Given the description of an element on the screen output the (x, y) to click on. 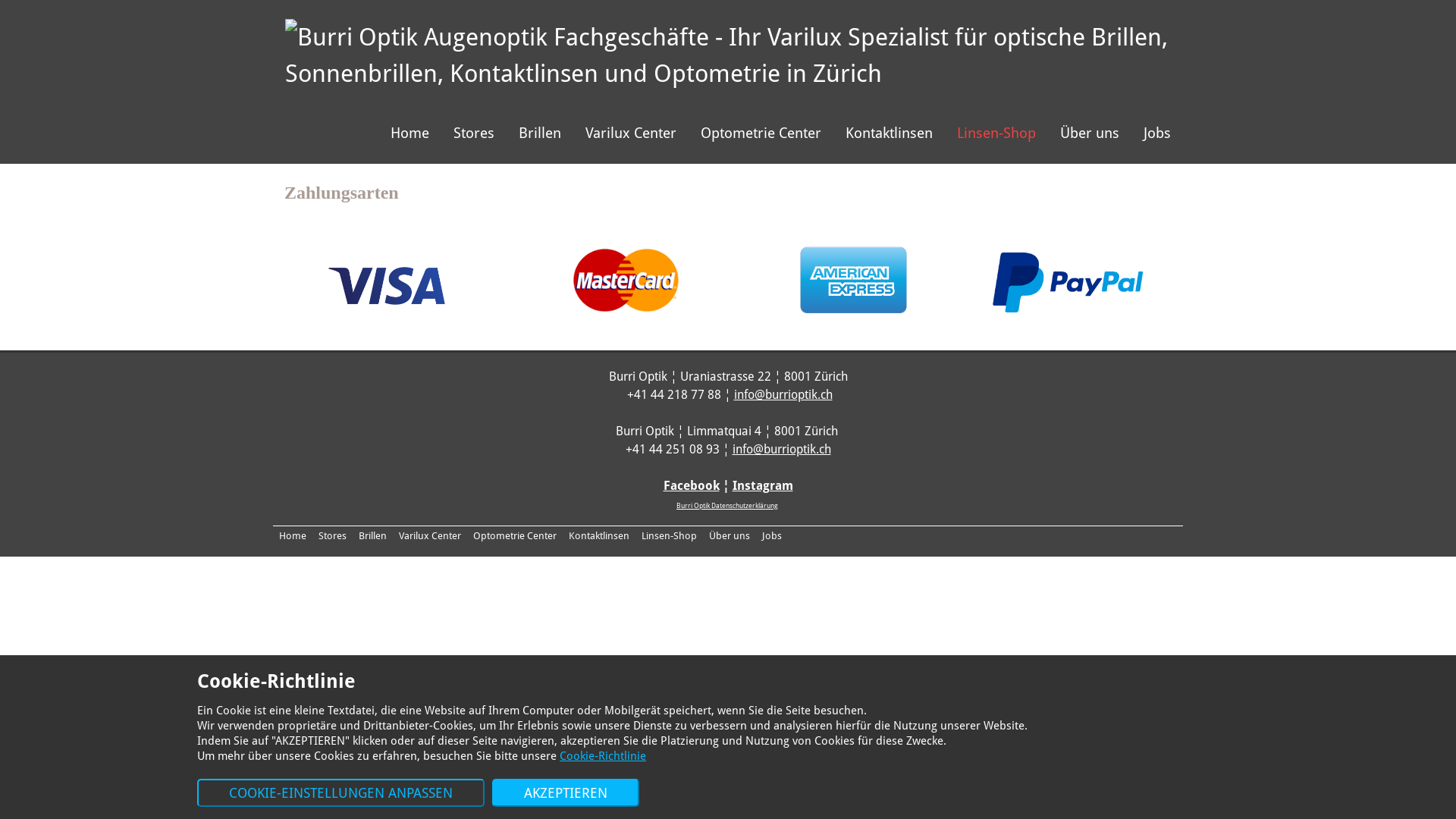
info@burrioptik.ch Element type: text (783, 394)
Stores Element type: text (473, 133)
AKZEPTIEREN Element type: text (565, 792)
Kontaktlinsen Element type: text (598, 535)
COOKIE-EINSTELLUNGEN ANPASSEN Element type: text (340, 792)
Optometrie Center Element type: text (514, 535)
Facebook Element type: text (690, 485)
Stores Element type: text (332, 535)
Jobs Element type: text (1156, 133)
Brillen Element type: text (372, 535)
Jobs Element type: text (771, 535)
Home Element type: text (409, 133)
Cookie-Richtlinie Element type: text (602, 755)
Instagram Element type: text (762, 485)
Kontaktlinsen Element type: text (888, 133)
info@burrioptik.ch Element type: text (781, 449)
Home Element type: text (292, 535)
Optometrie Center Element type: text (760, 133)
Linsen-Shop Element type: text (668, 535)
Linsen-Shop Element type: text (995, 133)
Varilux Center Element type: text (429, 535)
Brillen Element type: text (539, 133)
Varilux Center Element type: text (630, 133)
